Given the description of an element on the screen output the (x, y) to click on. 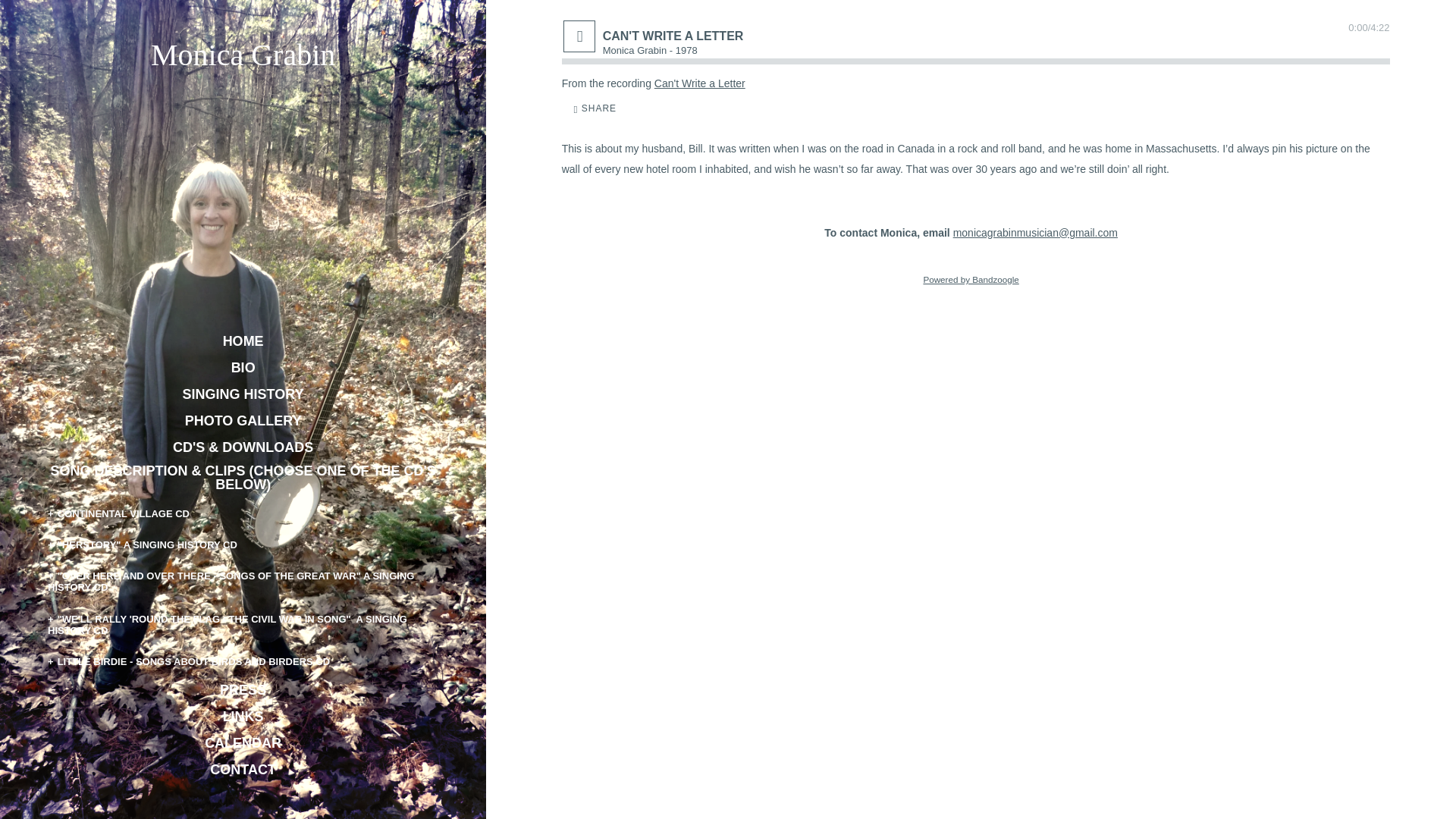
Monica Grabin (242, 57)
SINGING HISTORY (243, 394)
LINKS (242, 716)
BIO (243, 367)
Share Can't Write a Letter (595, 108)
LITTLE BIRDIE - SONGS ABOUT BIRDS AND BIRDERS CD  (245, 661)
HOME (242, 341)
PRESS (242, 689)
Powered by Bandzoogle (970, 279)
